Given the description of an element on the screen output the (x, y) to click on. 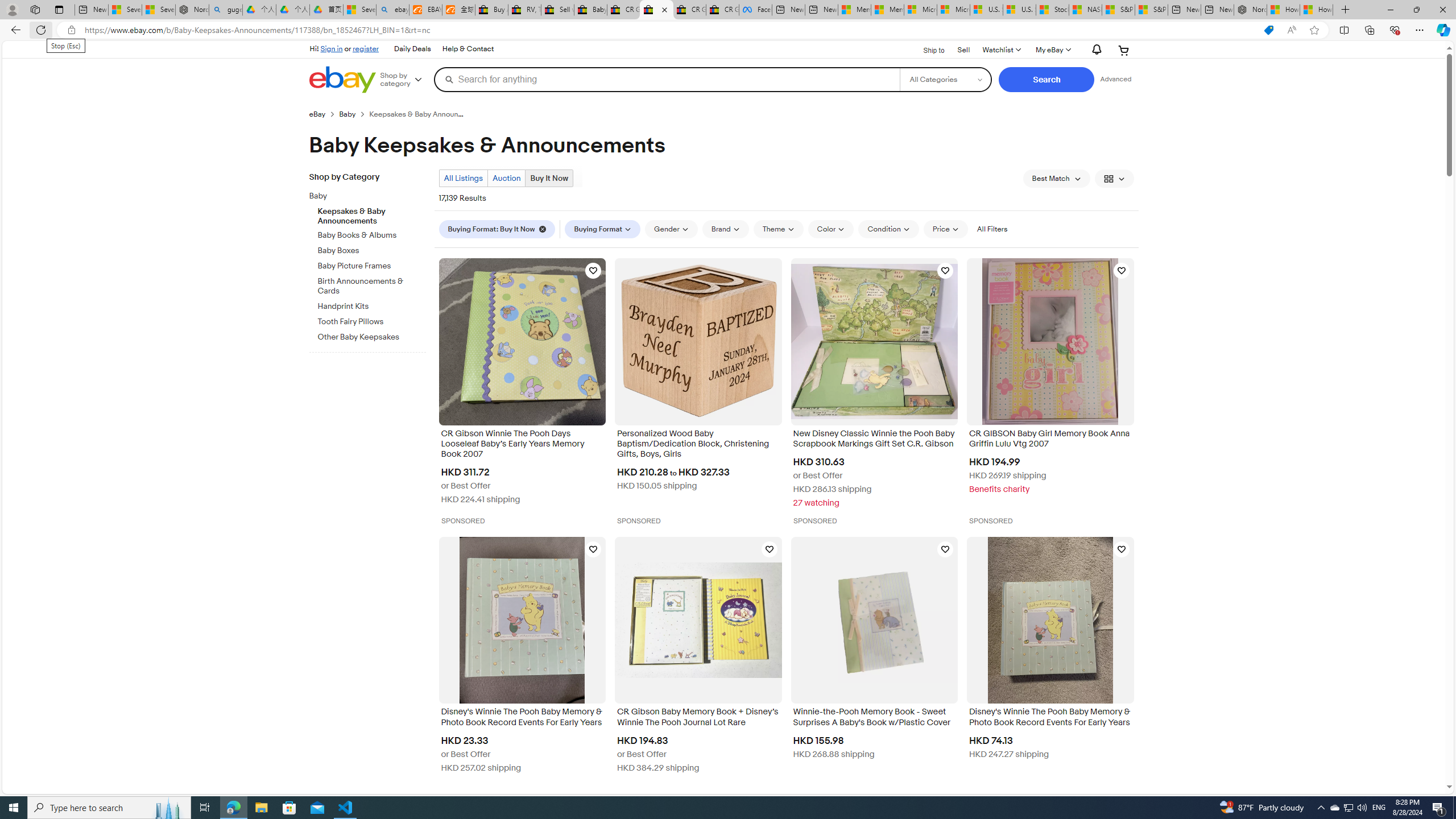
Help & Contact (467, 49)
Tooth Fairy Pillows (371, 321)
Personal Profile (12, 9)
Sell (963, 49)
Other Baby Keepsakes (371, 337)
Back (13, 29)
All Listings (462, 177)
Help & Contact (467, 49)
eBay (317, 113)
Auction (506, 178)
Color (831, 229)
ebay - Search (392, 9)
